Given the description of an element on the screen output the (x, y) to click on. 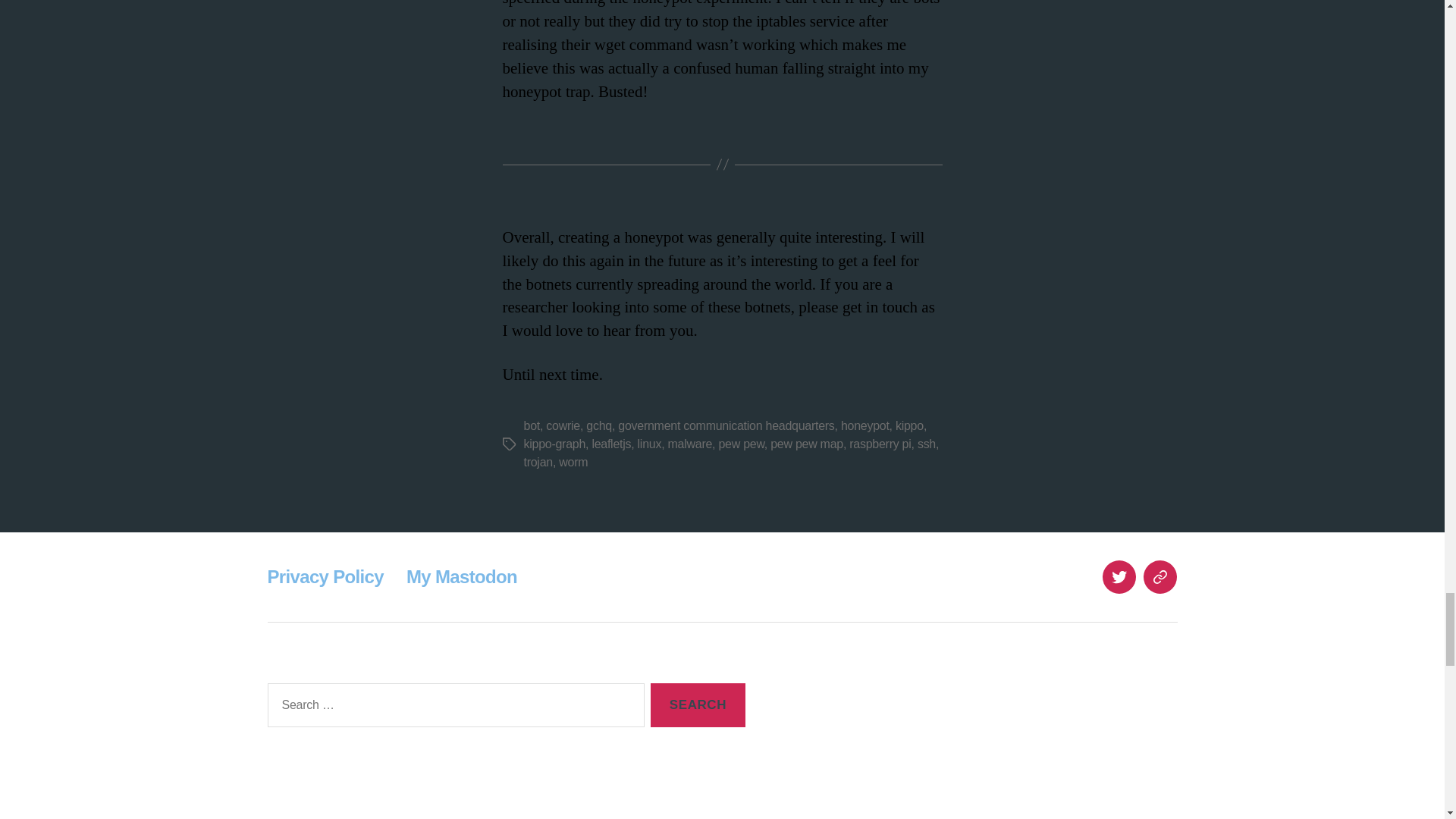
kippo (909, 425)
Search (697, 705)
cowrie (562, 425)
honeypot (865, 425)
linux (649, 443)
gchq (598, 425)
kippo-graph (553, 443)
malware (688, 443)
bot (530, 425)
Search (697, 705)
government communication headquarters (725, 425)
leafletjs (610, 443)
